Given the description of an element on the screen output the (x, y) to click on. 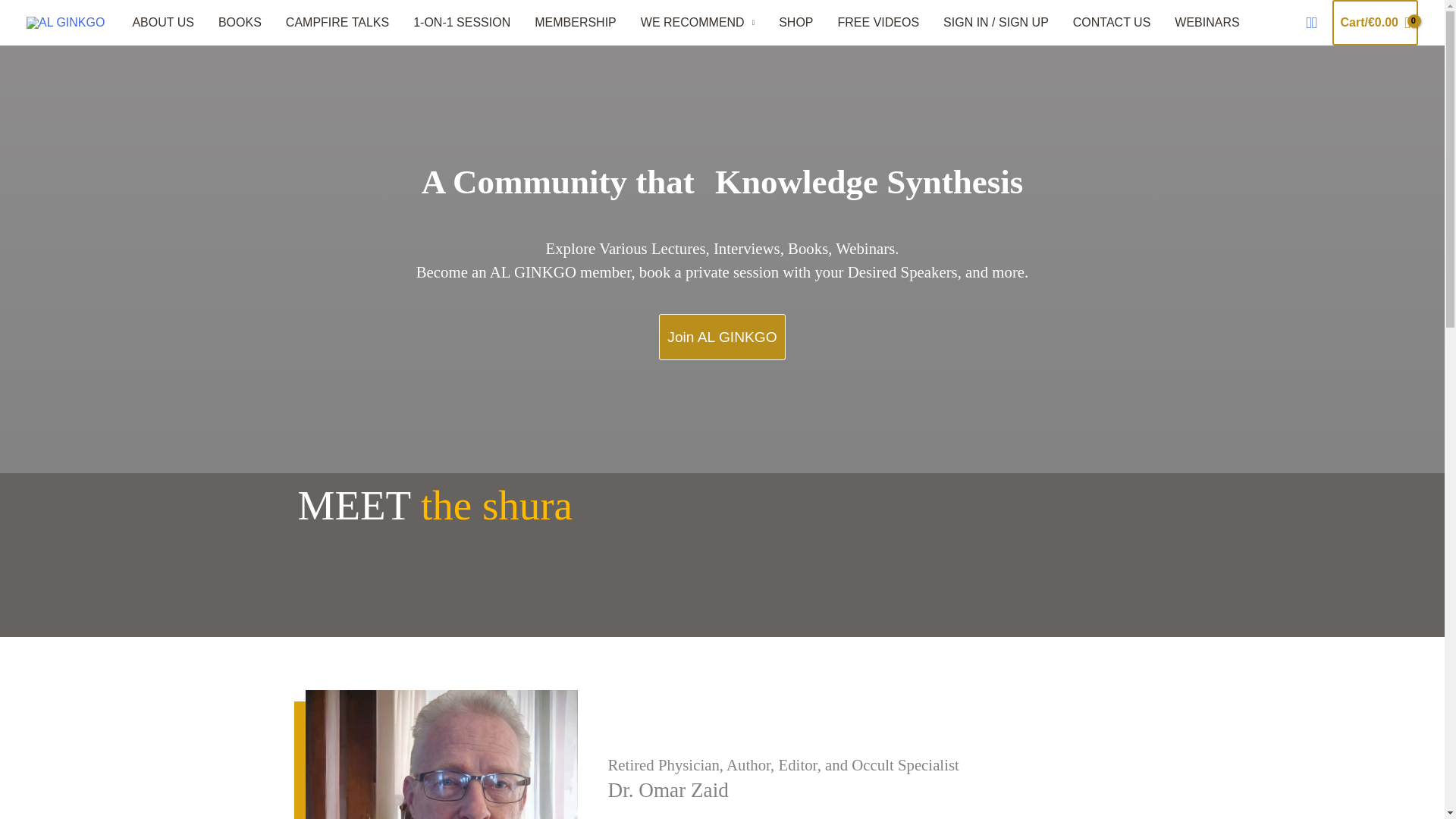
WEBINARS (1205, 22)
FREE VIDEOS (878, 22)
MEMBERSHIP (575, 22)
BOOKS (239, 22)
WE RECOMMEND (697, 22)
SHOP (796, 22)
CAMPFIRE TALKS (337, 22)
1-ON-1 SESSION (461, 22)
ABOUT US (162, 22)
CONTACT US (1112, 22)
